Given the description of an element on the screen output the (x, y) to click on. 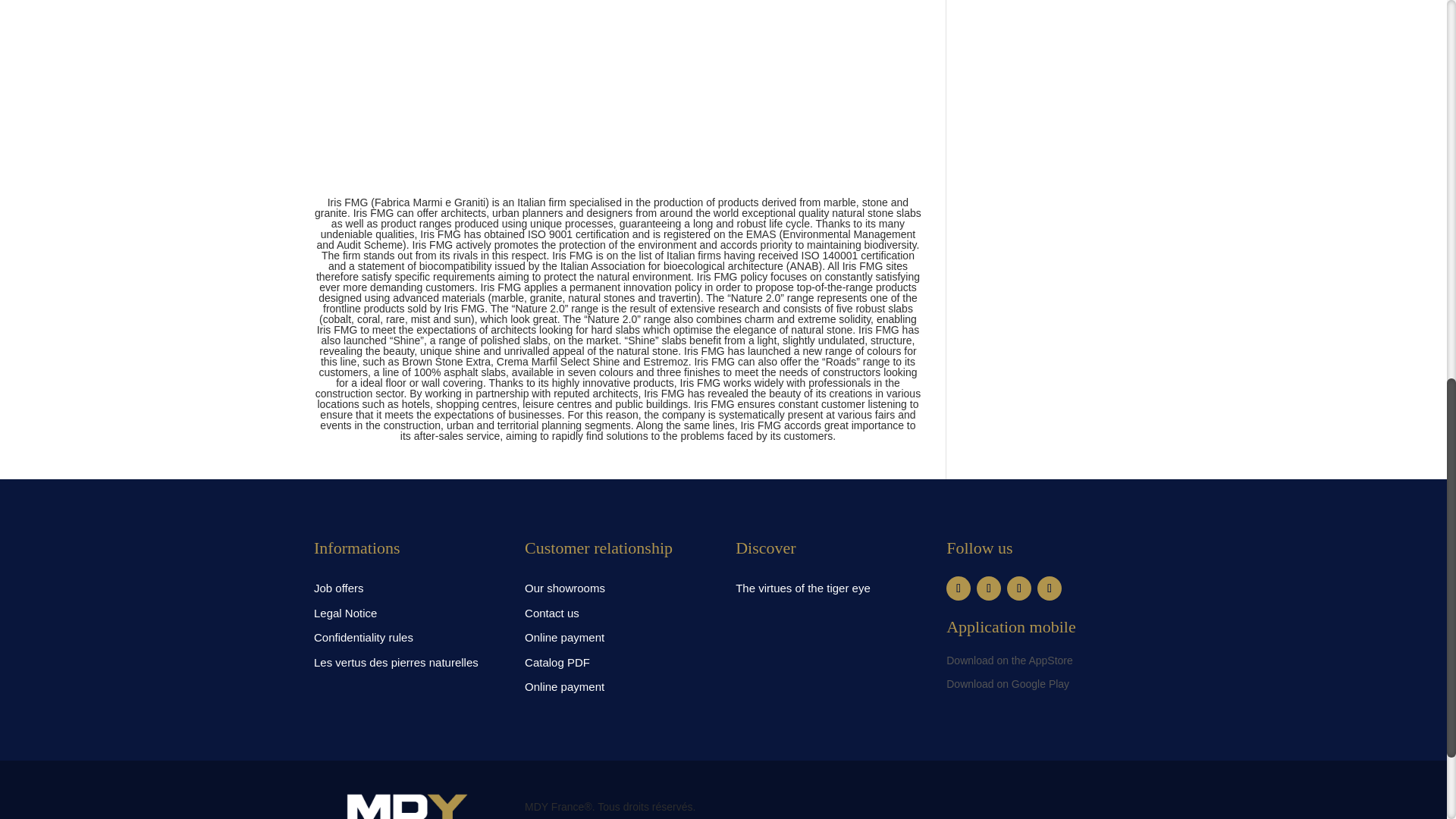
Follow on Facebook (958, 588)
Follow on Instagram (988, 588)
Follow on Pinterest (1018, 588)
Follow on LinkedIn (1048, 588)
